Given the description of an element on the screen output the (x, y) to click on. 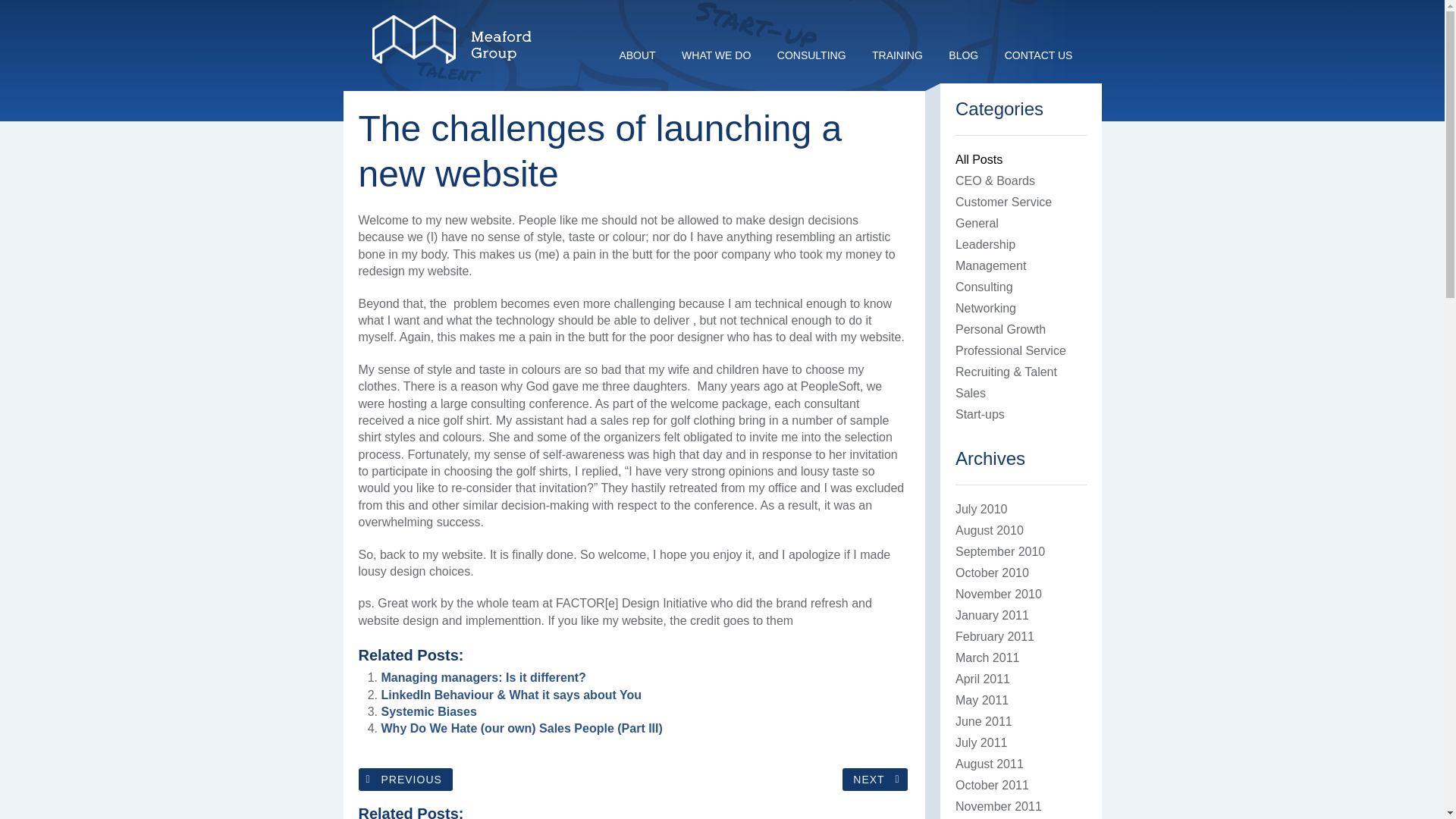
November 2010 (998, 594)
Personal Growth (1000, 328)
Leadership (984, 244)
General (976, 223)
All Posts (979, 159)
January 2011 (992, 615)
ABOUT (636, 55)
October 2010 (992, 572)
Managing managers: Is it different? (482, 676)
August 2010 (989, 530)
BLOG (963, 55)
September 2010 (1000, 551)
Sales (970, 392)
July 2010 (981, 508)
NEXT (875, 779)
